Given the description of an element on the screen output the (x, y) to click on. 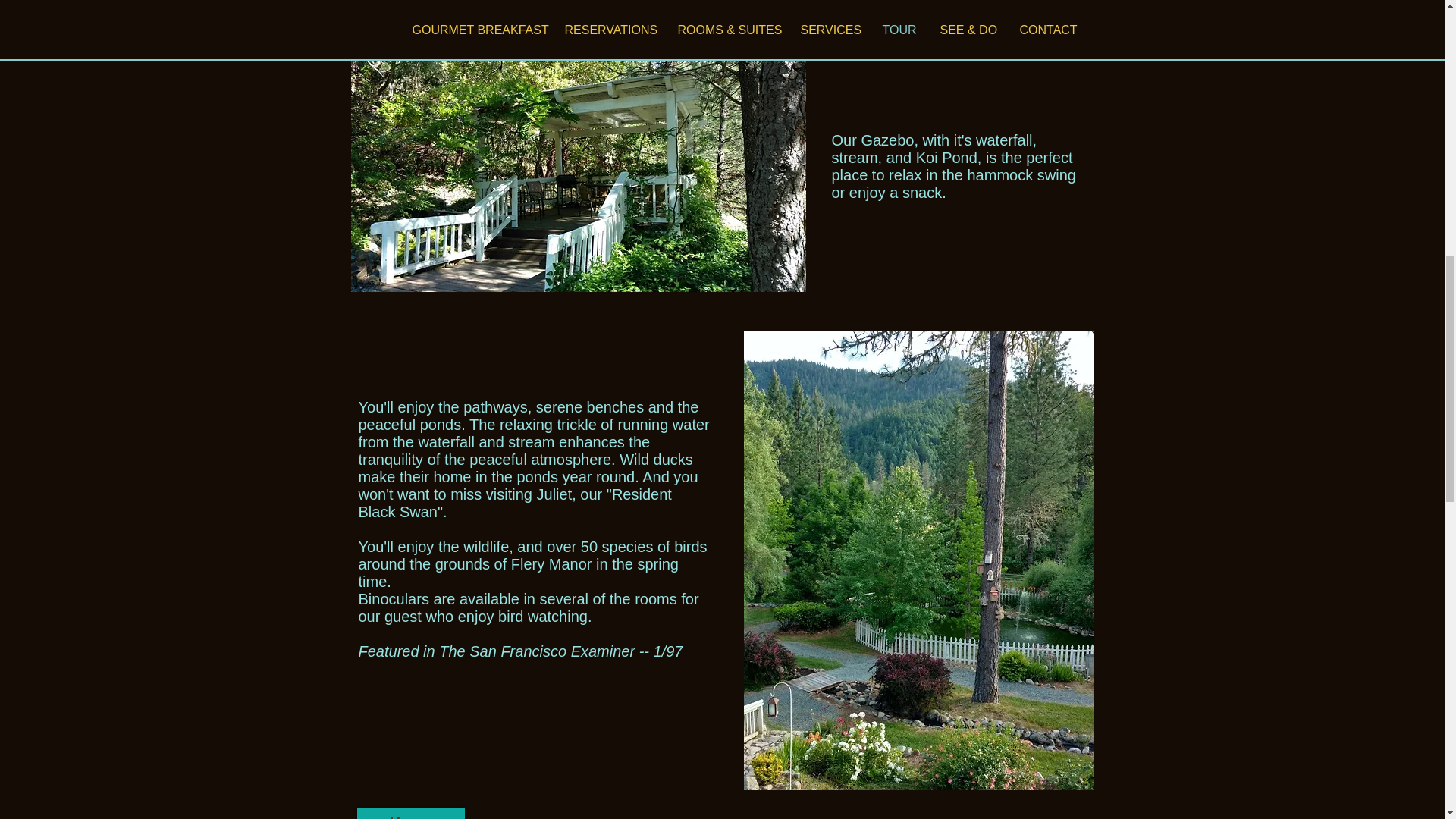
Home (410, 813)
